Given the description of an element on the screen output the (x, y) to click on. 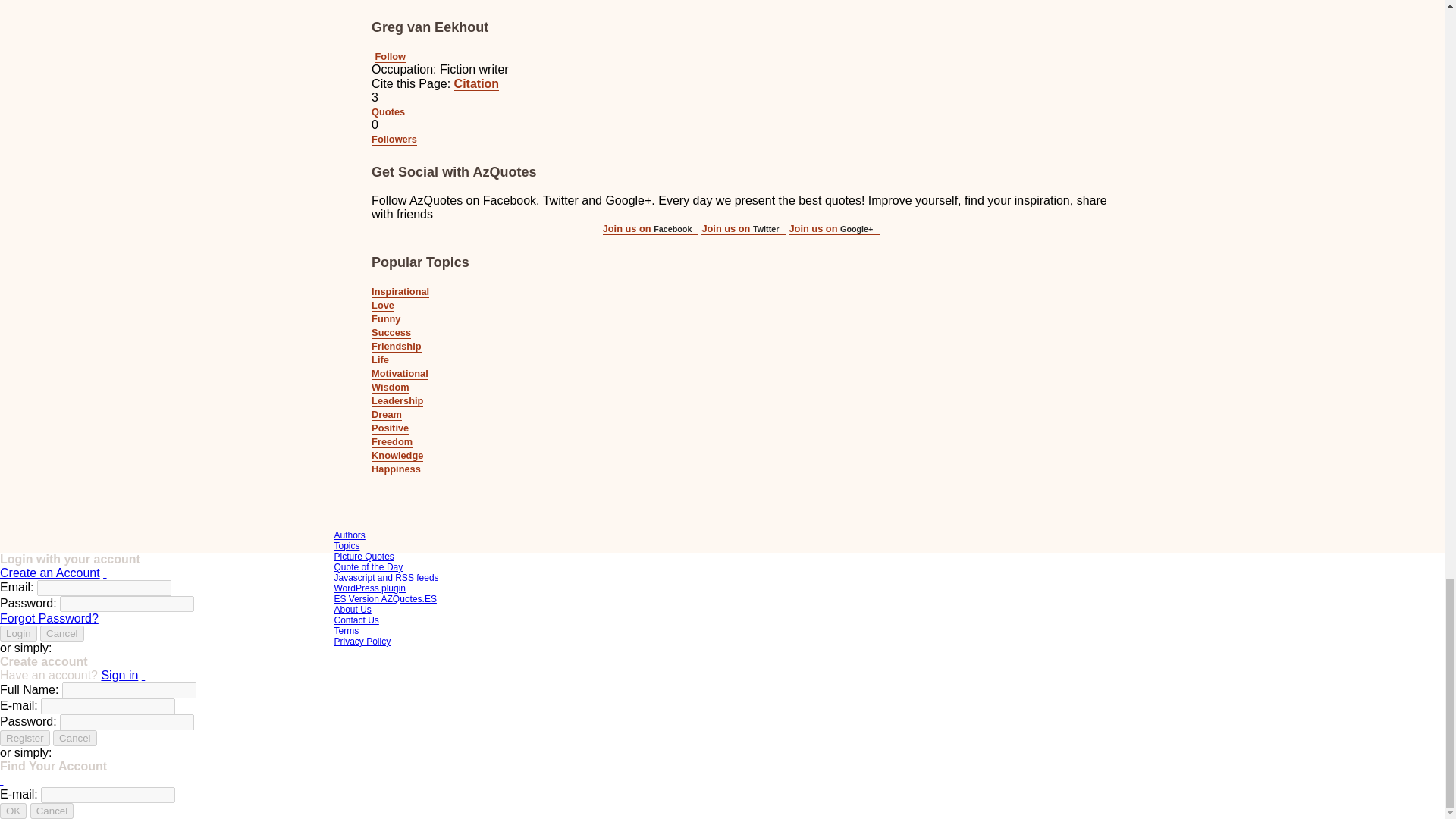
Cancel (62, 633)
Login (18, 633)
Register (24, 738)
Cancel (74, 738)
